Given the description of an element on the screen output the (x, y) to click on. 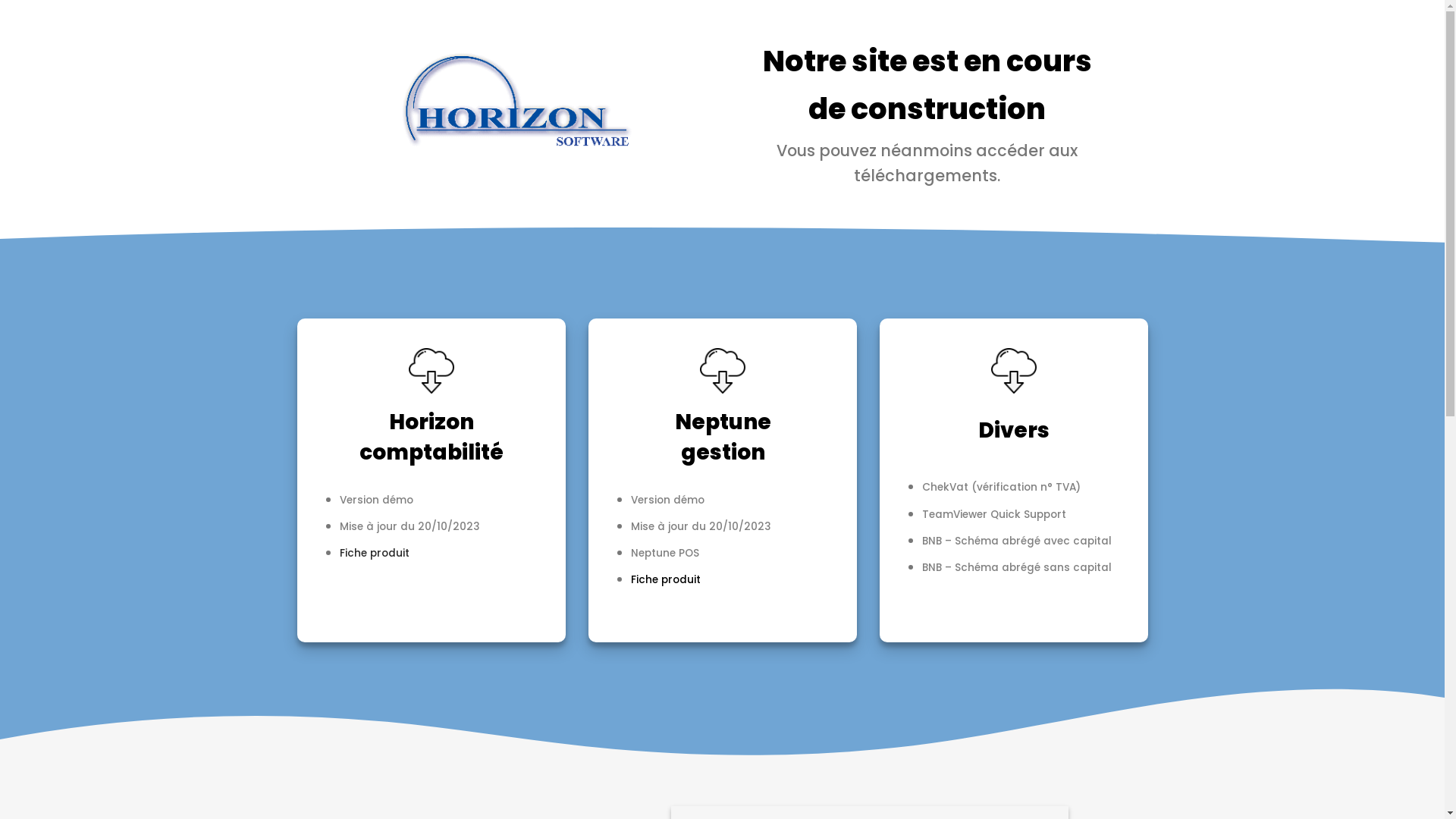
Horizon Software Element type: hover (400, 21)
Fiche produit Element type: text (665, 579)
TeamViewer Quick Support Element type: text (994, 513)
Neptune POS Element type: text (664, 553)
Fiche produit Element type: text (374, 553)
